Given the description of an element on the screen output the (x, y) to click on. 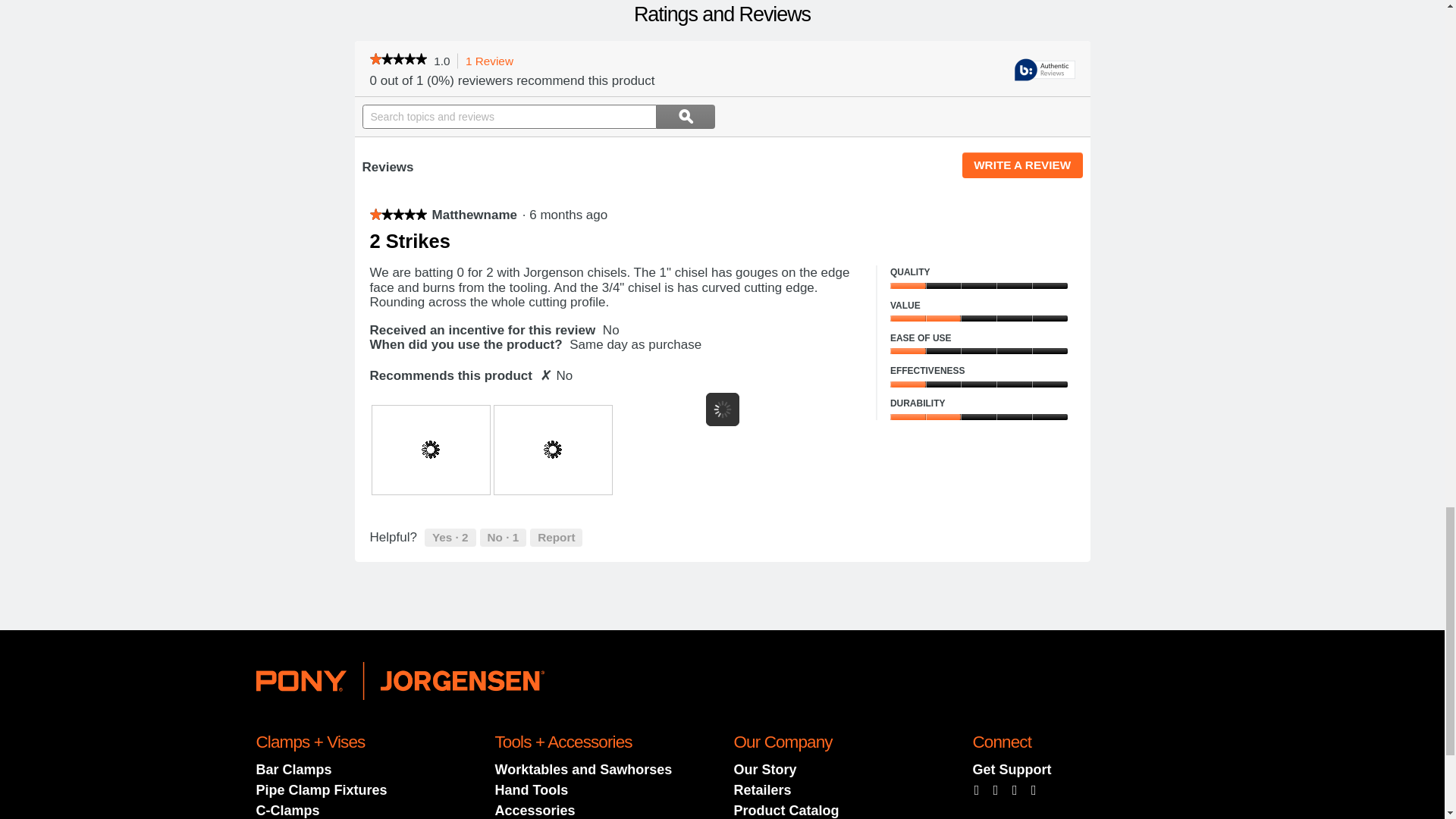
1 out of 5 stars. (397, 214)
Read a Review (397, 60)
